Given the description of an element on the screen output the (x, y) to click on. 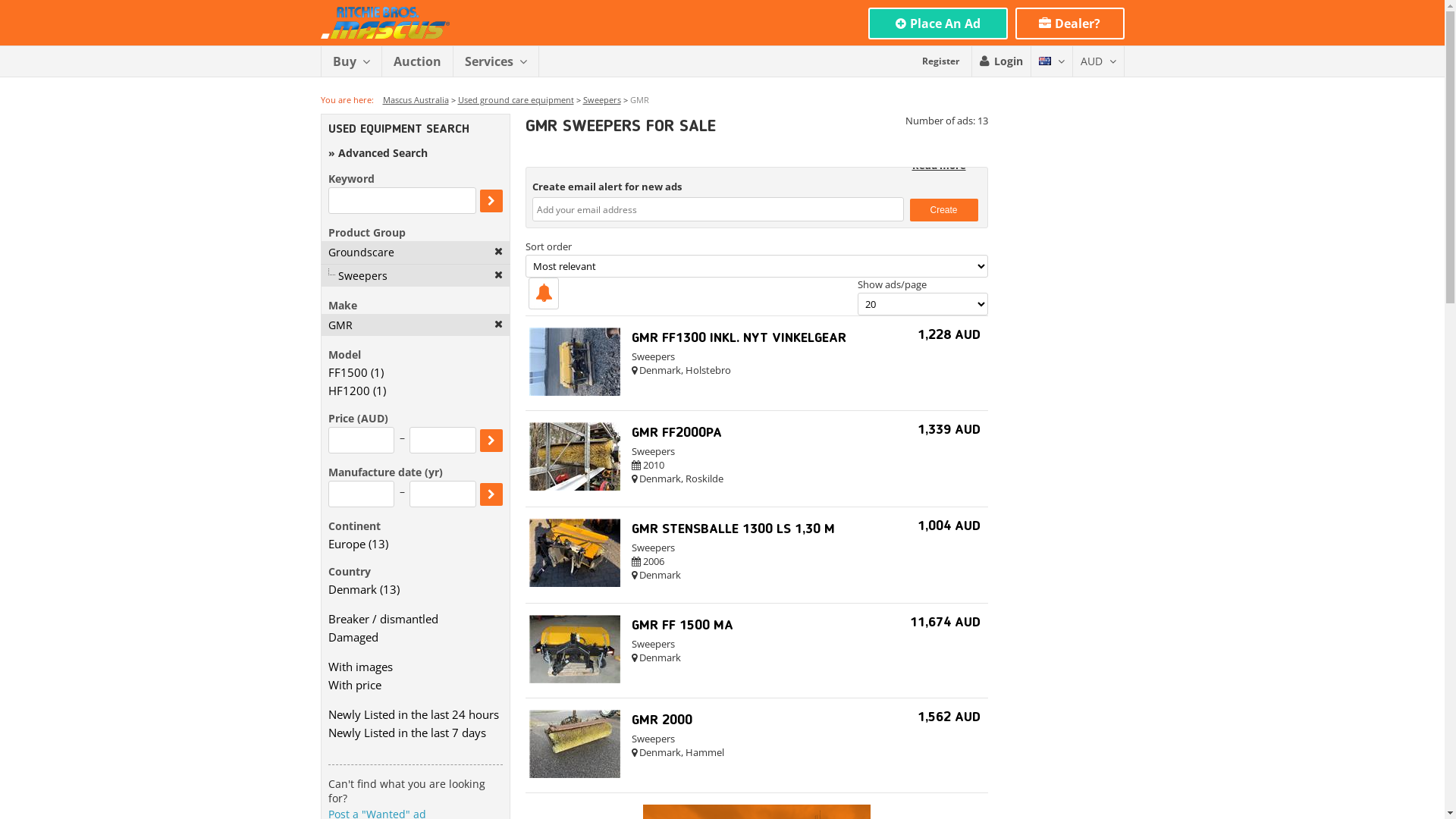
GMR 2000, Sweepers Element type: hover (574, 774)
Create Element type: text (944, 209)
GMR FF1300 Inkl. nyt vinkelgear, Sweepers Element type: hover (574, 391)
Newly Listed in the last 7 days Element type: text (414, 732)
Mascus Australia Element type: text (415, 99)
HF1200 Element type: text (348, 390)
GMR FF 1500 MA Element type: text (681, 625)
GMR FF2000PA Element type: text (675, 432)
GMR stensballe 1300 LS 1,30 m, 2006, Sweepers Element type: hover (574, 582)
Europe Element type: text (345, 543)
Register Element type: text (940, 60)
Dealer? Element type: text (1068, 23)
Mascus Australia Element type: text (384, 22)
Sweepers Element type: text (601, 99)
Sweepers Element type: text (414, 275)
English Element type: hover (1044, 60)
Auction Element type: text (416, 61)
GMR STENSBALLE 1300 LS 1,30 M Element type: text (732, 529)
Breaker / dismantled Element type: text (414, 618)
Groundscare Element type: text (414, 252)
Place An Ad Element type: text (937, 23)
GMR 2000 Element type: text (660, 720)
GMR FF2000PA, 2010, Sweepers Element type: hover (574, 486)
Damaged Element type: text (414, 636)
Services Element type: text (495, 61)
With price Element type: text (414, 684)
With images Element type: text (414, 666)
Read more Element type: text (938, 165)
GMR FF1300 INKL. NYT VINKELGEAR Element type: text (737, 338)
GMR FF 1500 MA, Sweepers Element type: hover (574, 679)
FF1500 Element type: text (347, 371)
Buy Element type: text (350, 61)
Used ground care equipment Element type: text (516, 99)
Newly Listed in the last 24 hours Element type: text (414, 714)
GMR Element type: text (414, 324)
Denmark Element type: text (351, 588)
